Given the description of an element on the screen output the (x, y) to click on. 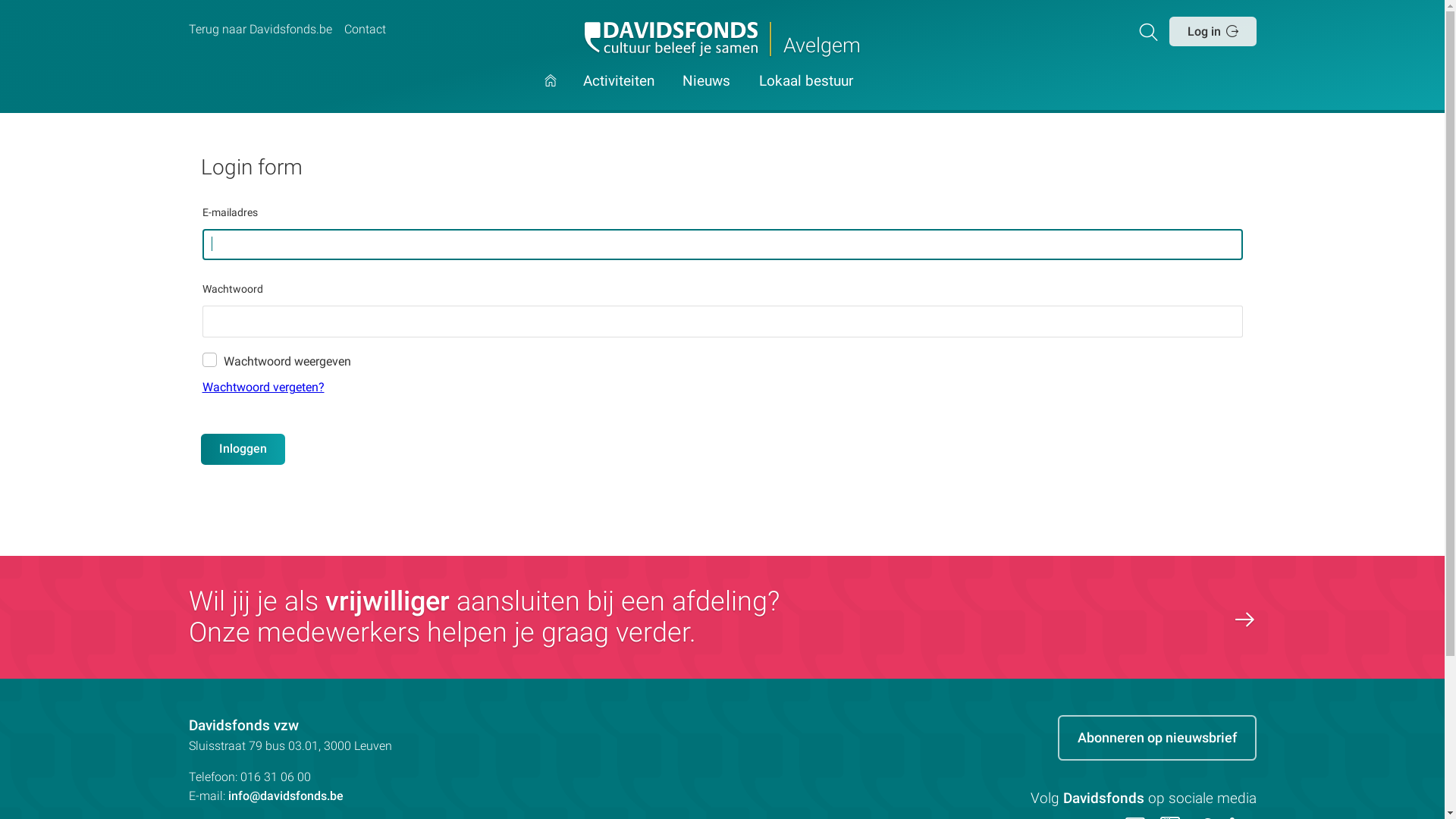
Wachtwoord vergeten? Element type: text (721, 387)
Activiteiten Element type: text (618, 93)
Nieuws Element type: text (706, 93)
Log in Element type: text (1212, 30)
Contact Element type: text (364, 30)
Zoeken Element type: text (1150, 31)
Abonneren op nieuwsbrief Element type: text (1156, 737)
Lokaal bestuur Element type: text (806, 93)
Inloggen Element type: text (242, 448)
Hoofdpagina Element type: text (550, 93)
Terug naar Davidsfonds.be Element type: text (259, 30)
Avelgem Element type: text (721, 38)
